Given the description of an element on the screen output the (x, y) to click on. 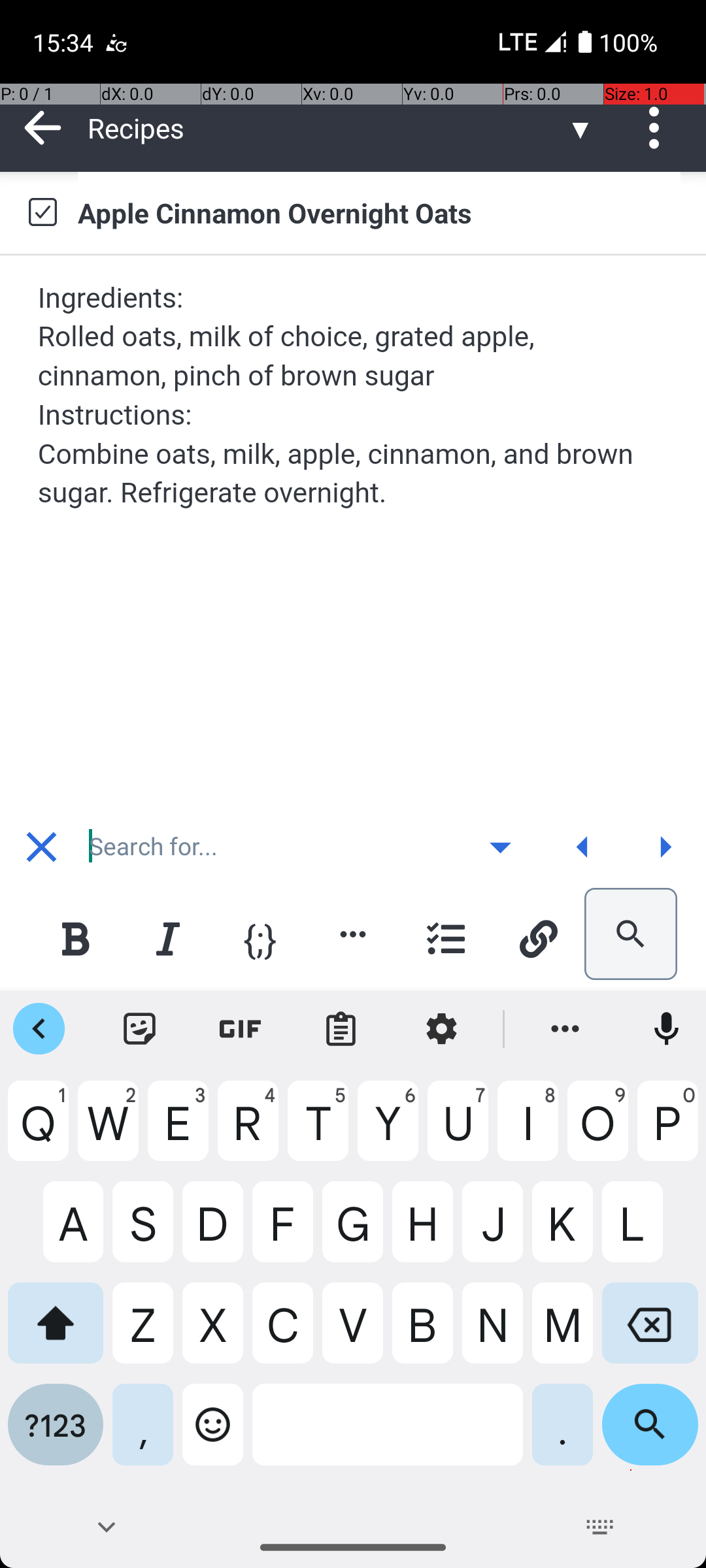
Apple Cinnamon Overnight Oats Element type: android.widget.EditText (378, 212)
Search for... Element type: android.widget.EditText (270, 846)
Show advanced Element type: android.widget.Button (499, 846)
Previous match Element type: android.widget.Button (582, 846)
Next match Element type: android.widget.Button (664, 846)
󰅖 Element type: android.widget.TextView (41, 846)
󰍝 Element type: android.widget.TextView (500, 846)
󰍞 Element type: android.widget.TextView (582, 846)
󰍟 Element type: android.widget.TextView (664, 846)
Ingredients:
Rolled oats, milk of choice, grated apple, cinnamon, pinch of brown sugar
Instructions:
Combine oats, milk, apple, cinnamon, and brown sugar. Refrigerate overnight. Element type: android.widget.EditText (354, 395)
